Given the description of an element on the screen output the (x, y) to click on. 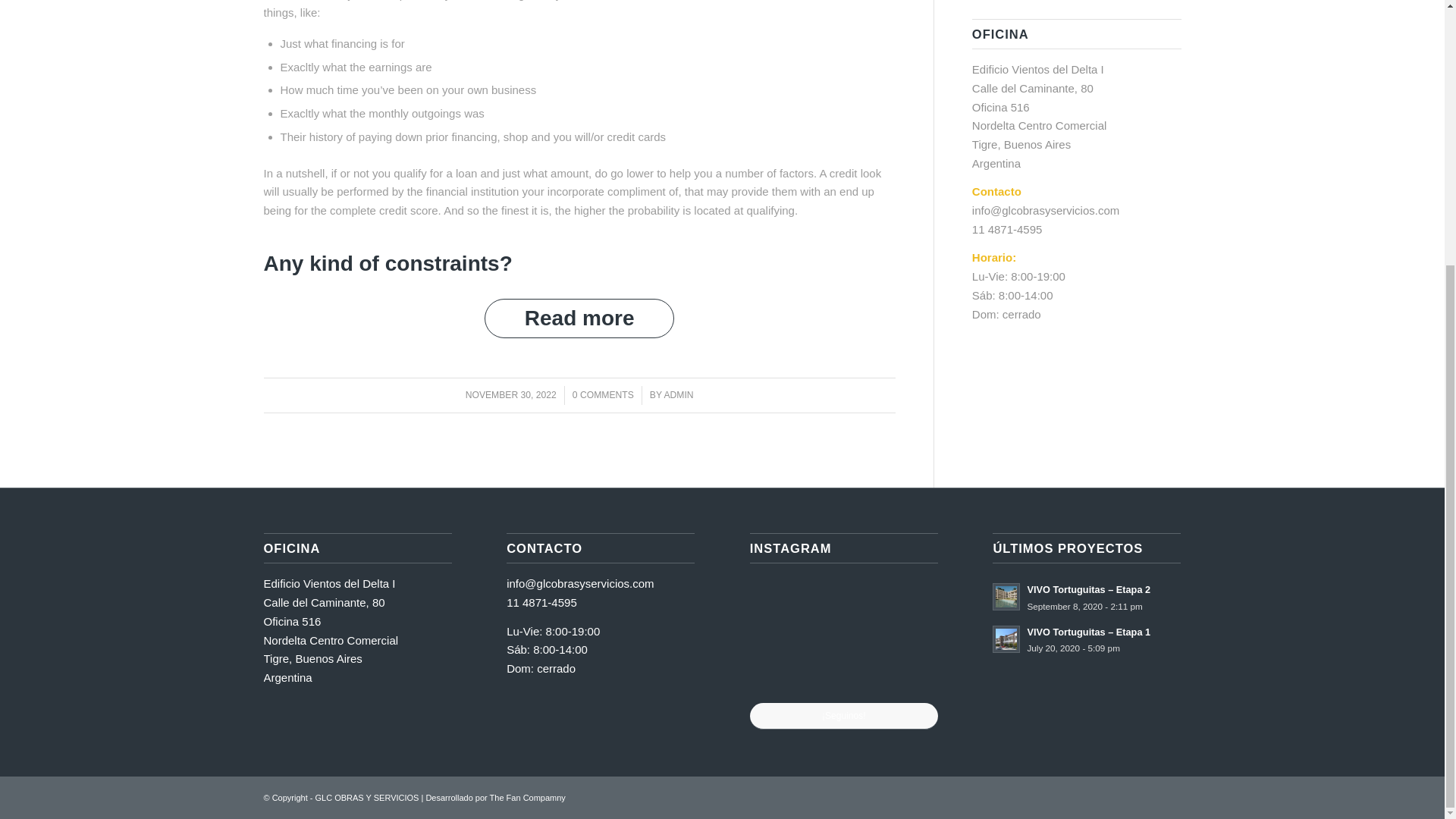
Read more (579, 318)
0 COMMENTS (602, 394)
The Fan Compamny (527, 797)
Posts by admin (678, 394)
ADMIN (678, 394)
